Given the description of an element on the screen output the (x, y) to click on. 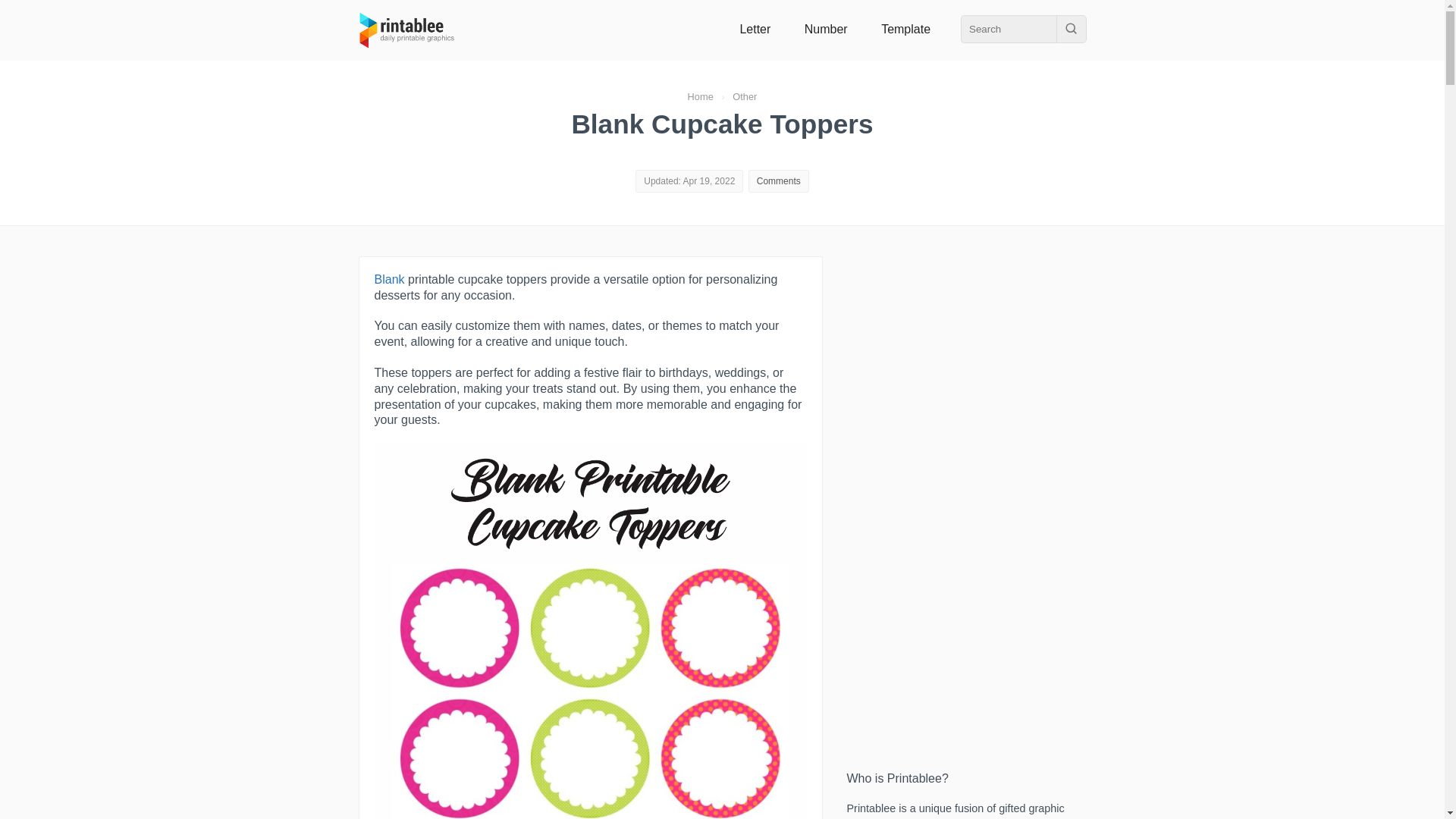
Letter (754, 29)
Comments (778, 181)
Blank (389, 278)
Home (700, 96)
Printable Template Category (905, 29)
Printable Number Category (826, 29)
Printable Letter Category (754, 29)
Number (826, 29)
Template (905, 29)
